Given the description of an element on the screen output the (x, y) to click on. 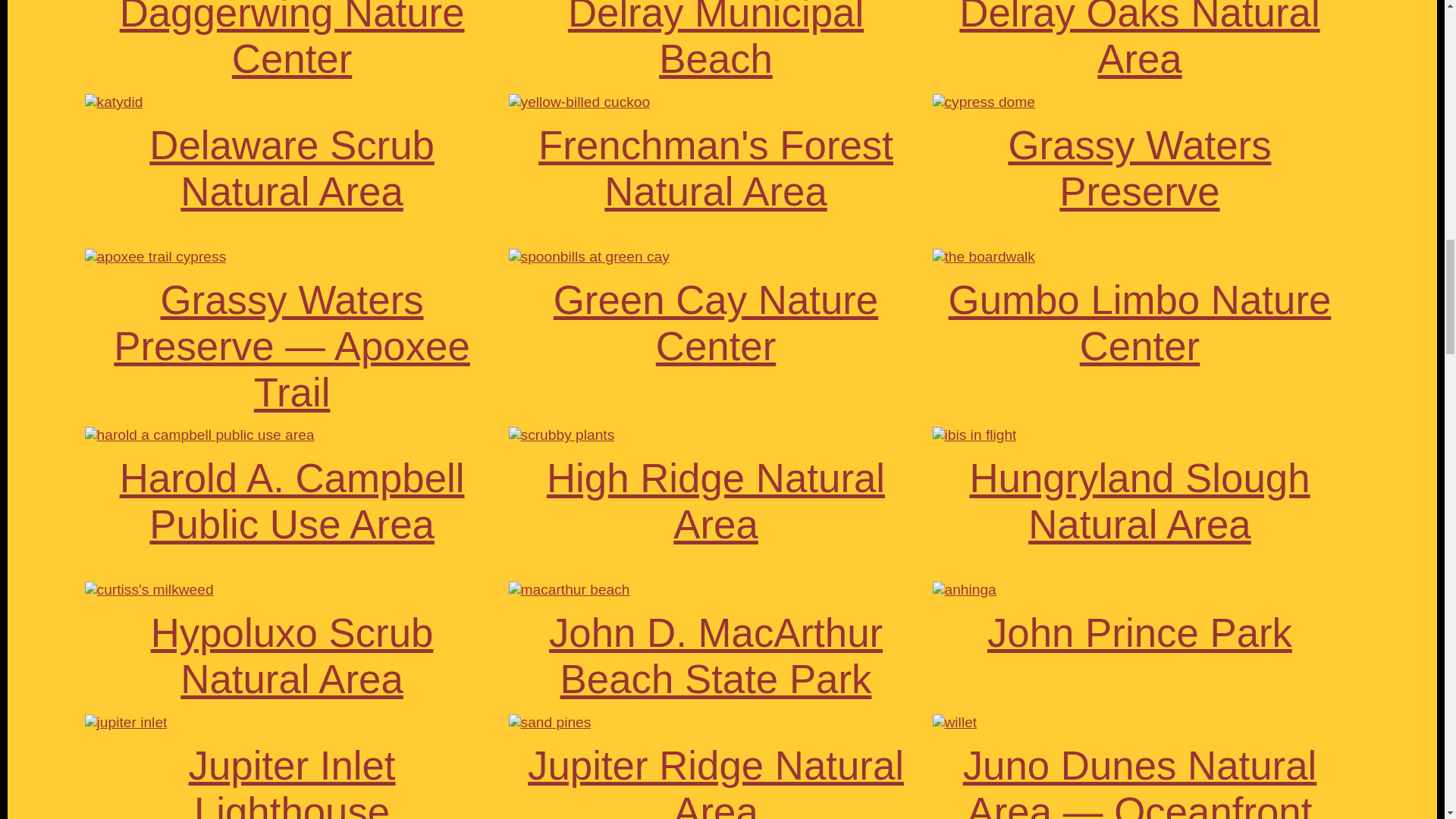
Frenchman's Forest Natural Area (715, 167)
Daggerwing Nature Center (291, 40)
Delaware Scrub Natural Area (291, 167)
Grassy Waters Preserve (1139, 167)
Delray Oaks Natural Area (1139, 40)
Delray Municipal Beach (715, 40)
